Given the description of an element on the screen output the (x, y) to click on. 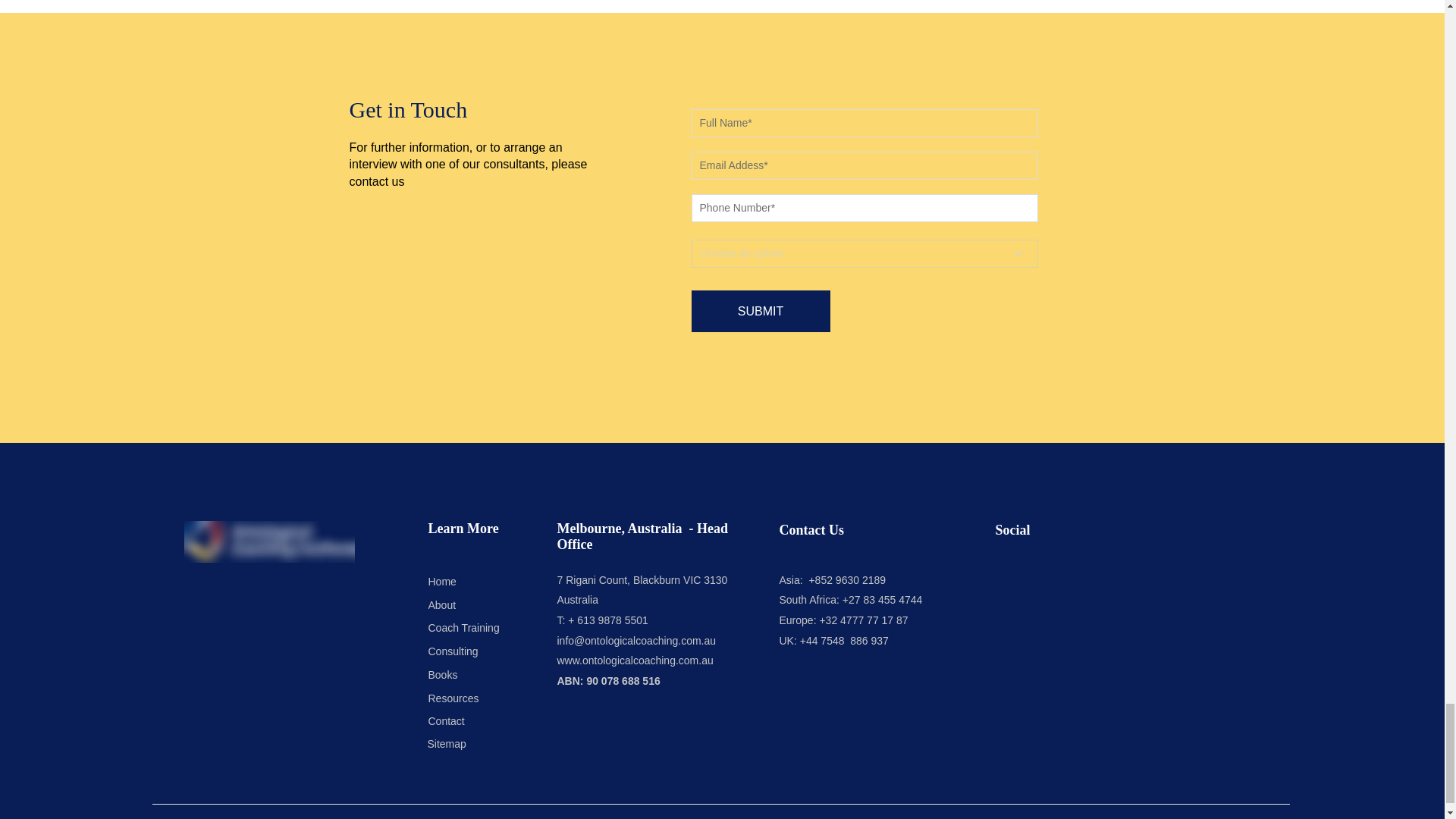
Resources (478, 698)
Books (478, 674)
Home (478, 581)
Coach Training (478, 627)
logo header.png (268, 541)
About (478, 604)
Consulting (484, 650)
SUBMIT (760, 311)
